Given the description of an element on the screen output the (x, y) to click on. 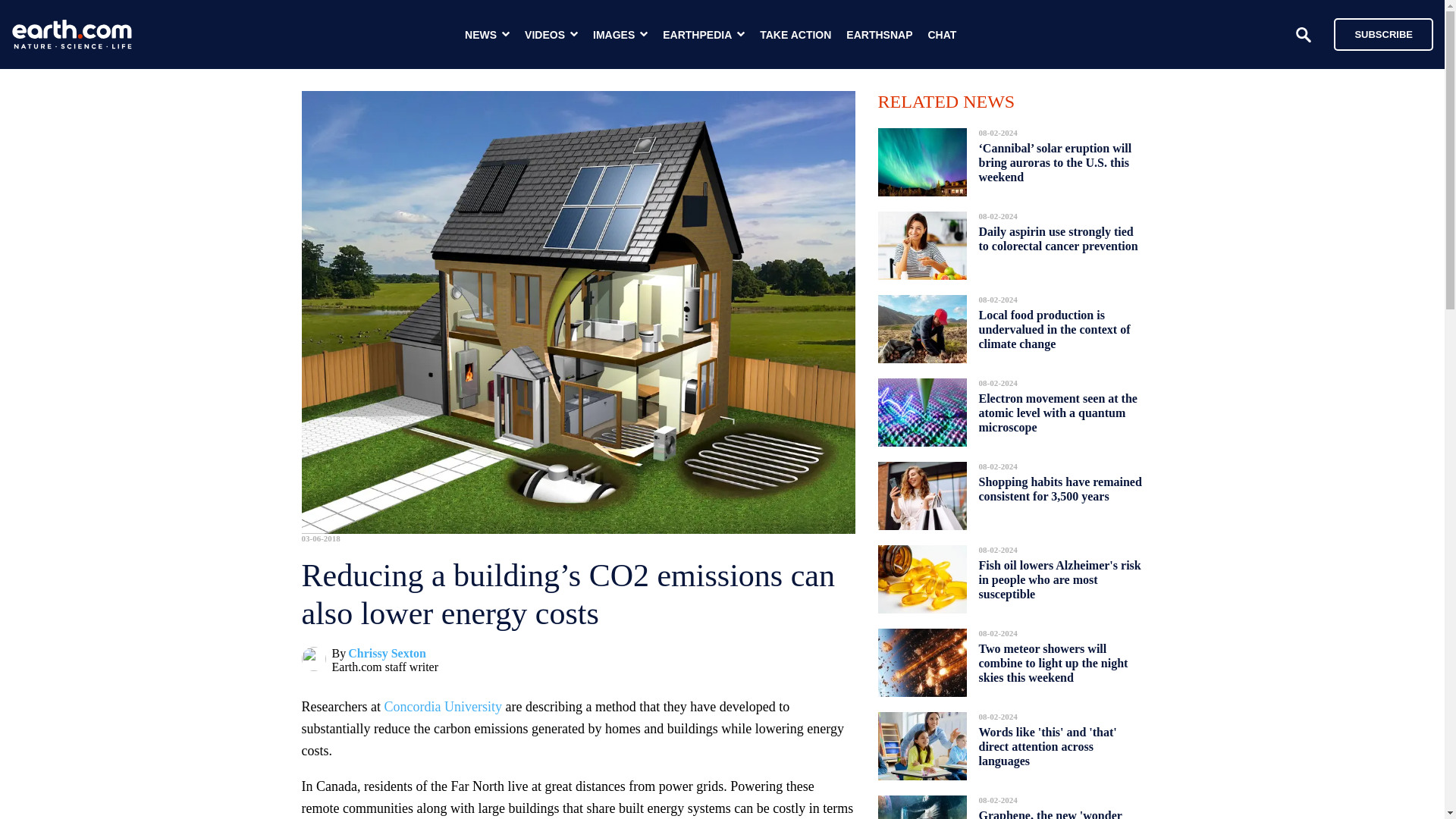
Chrissy Sexton (386, 653)
CHAT (941, 34)
SUBSCRIBE (1375, 33)
EARTHSNAP (878, 34)
